Given the description of an element on the screen output the (x, y) to click on. 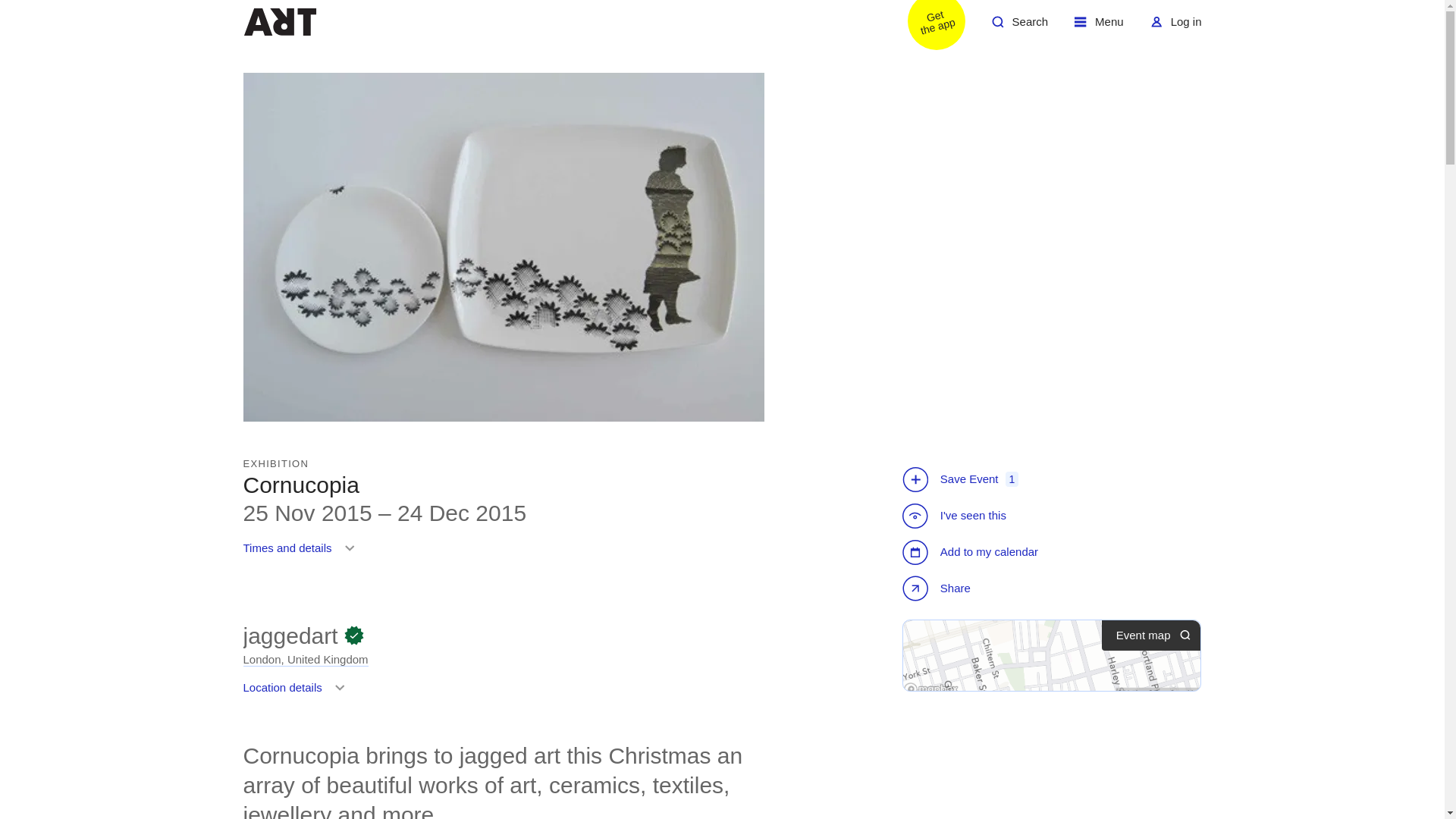
Share (1099, 26)
jaggedart (297, 692)
Add to my calendar (1019, 26)
London, United Kingdom (1176, 26)
Welcome to ArtRabbit (938, 589)
